Given the description of an element on the screen output the (x, y) to click on. 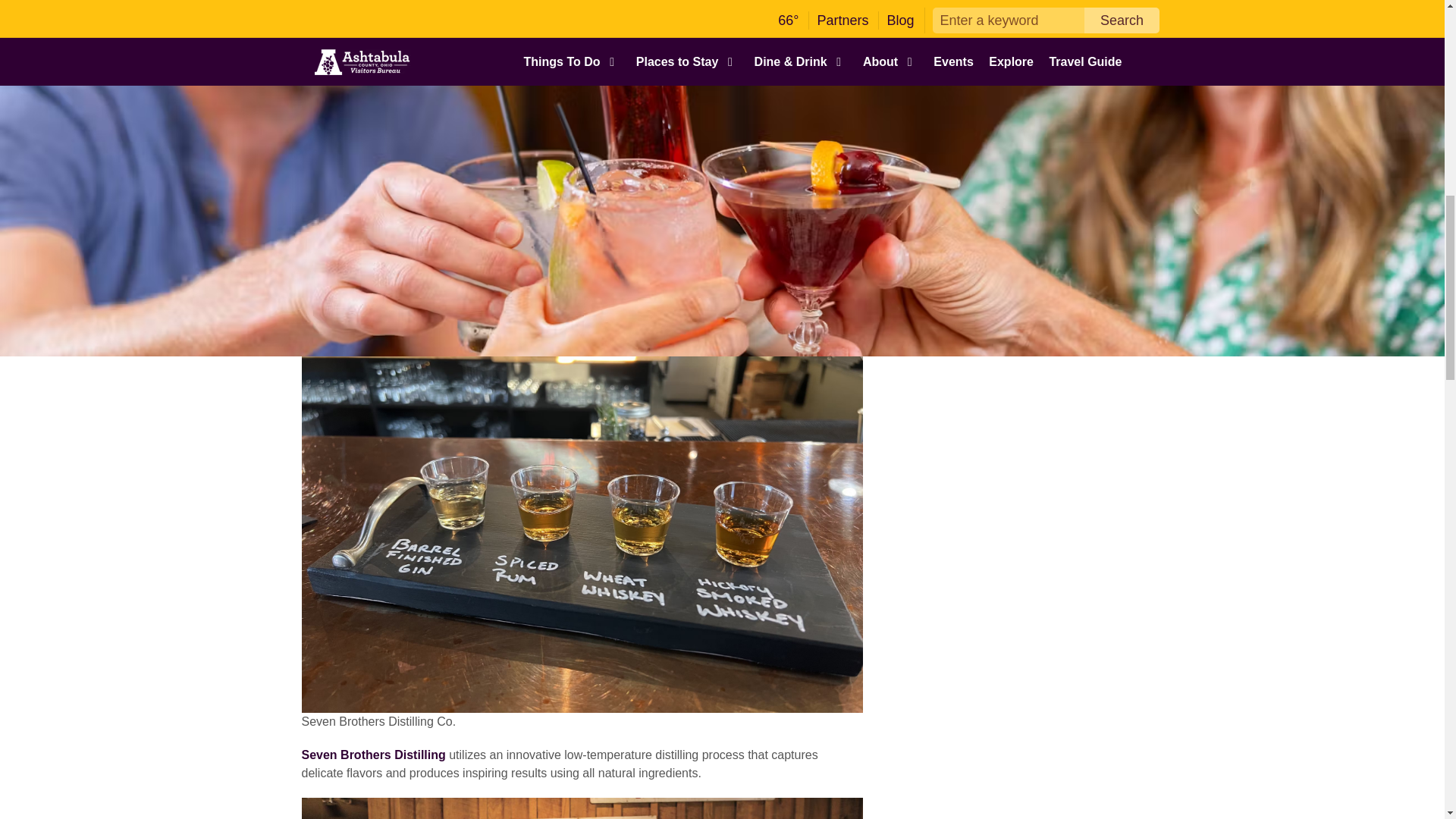
Red Eagle Distillery (357, 212)
Seven Brothers Distilling Co. (373, 754)
